Given the description of an element on the screen output the (x, y) to click on. 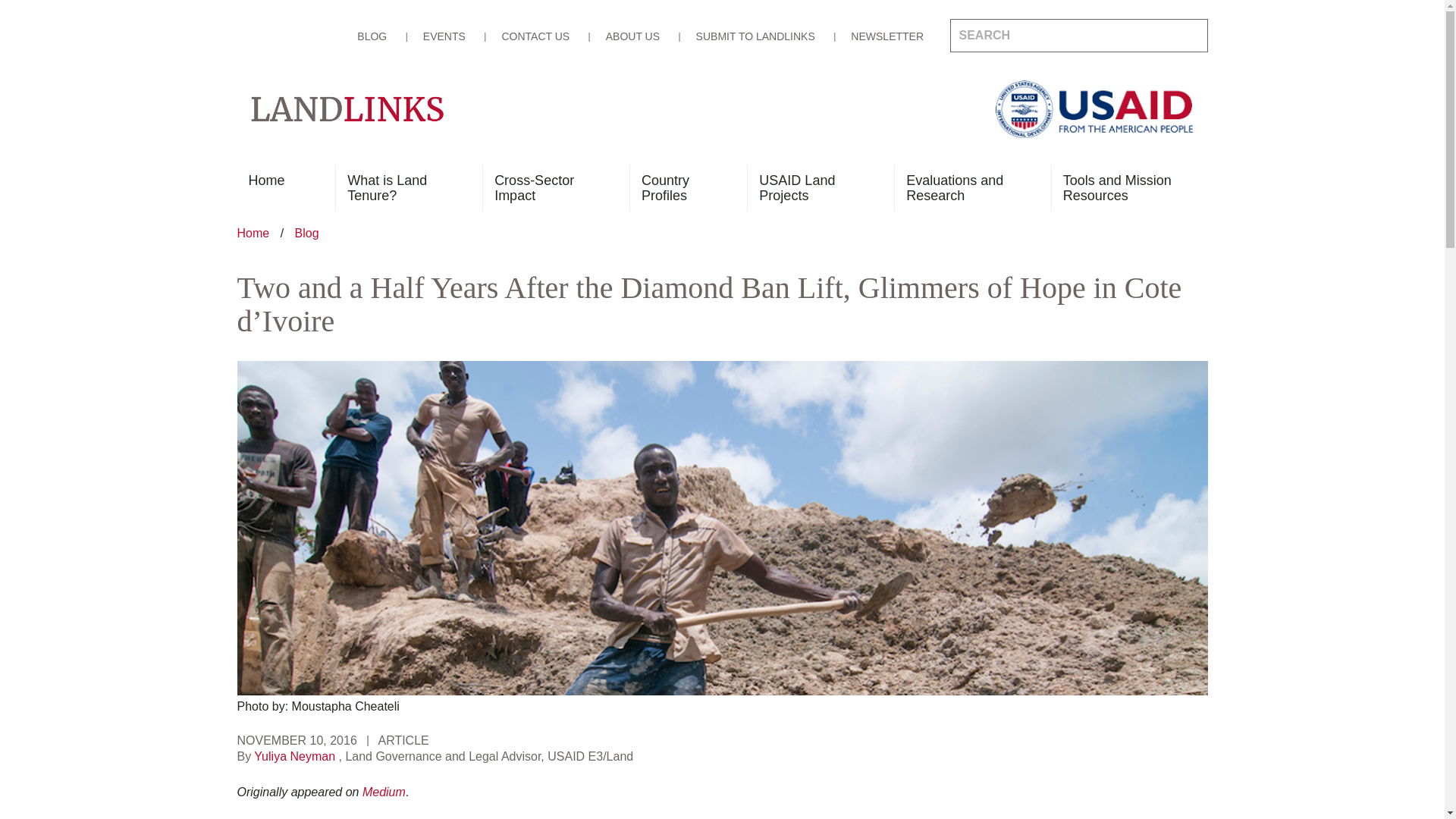
Evaluations and Research (966, 187)
Country Profiles (682, 187)
Tools and Mission Resources (1123, 187)
EVENTS (444, 36)
Yuliya Neyman (293, 756)
Blog (306, 232)
Go to Blog. (306, 232)
BLOG (371, 36)
What is Land Tenure? (402, 187)
Search for: (1078, 35)
SUBMIT TO LANDLINKS (755, 36)
CONTACT US (534, 36)
Home (253, 232)
USAID Land Projects (814, 187)
Go to Home. (253, 232)
